Given the description of an element on the screen output the (x, y) to click on. 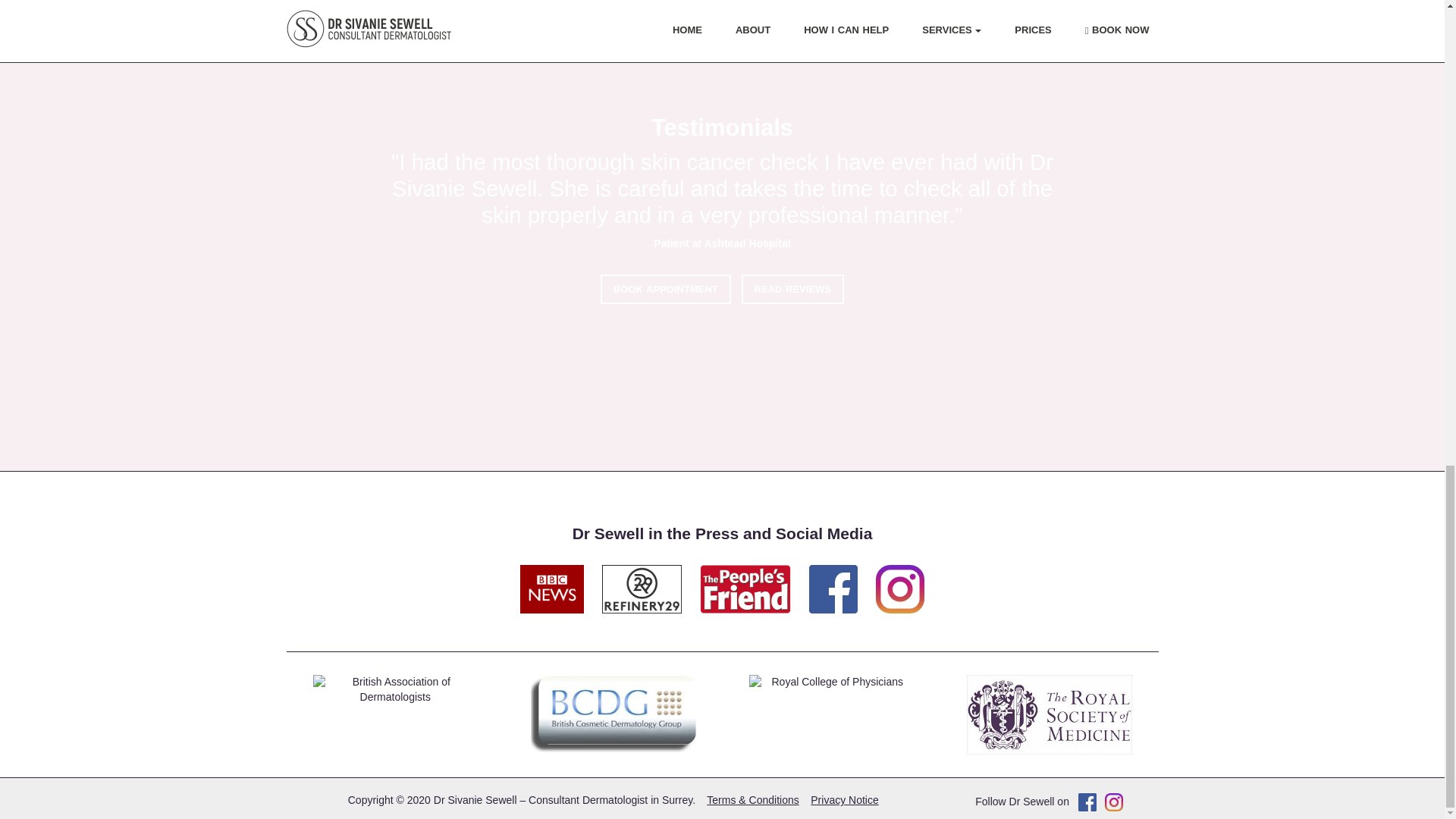
Follow Dr Sewell on Facebook (840, 580)
Follow Dr Sewell on Facebook (1087, 801)
Follow Dr Sewell on Instagram (1113, 801)
Read Reviews of Dr Sewell (792, 294)
Follow Dr Sewell on Instagram (900, 580)
Privacy Notice (843, 799)
Book a dermatology appointment today (664, 290)
BOOK APPOINTMENT (664, 317)
